Given the description of an element on the screen output the (x, y) to click on. 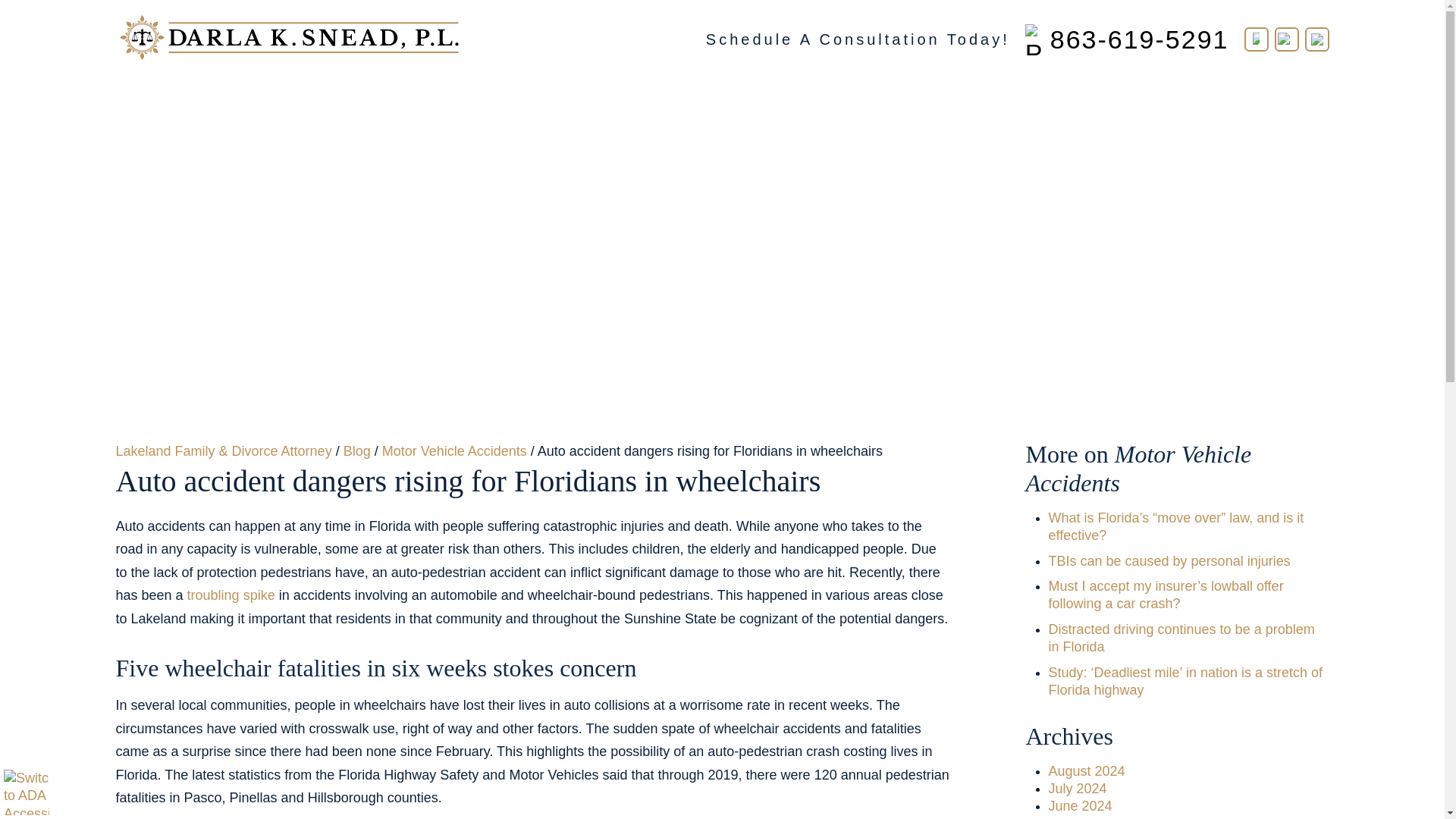
ATTORNEYS (429, 101)
PERSONAL INJURY (709, 101)
HOME (323, 101)
Switch to ADA Accessible Theme (26, 791)
863-619-5291 (1126, 39)
FAMILY LAW (556, 101)
